Given the description of an element on the screen output the (x, y) to click on. 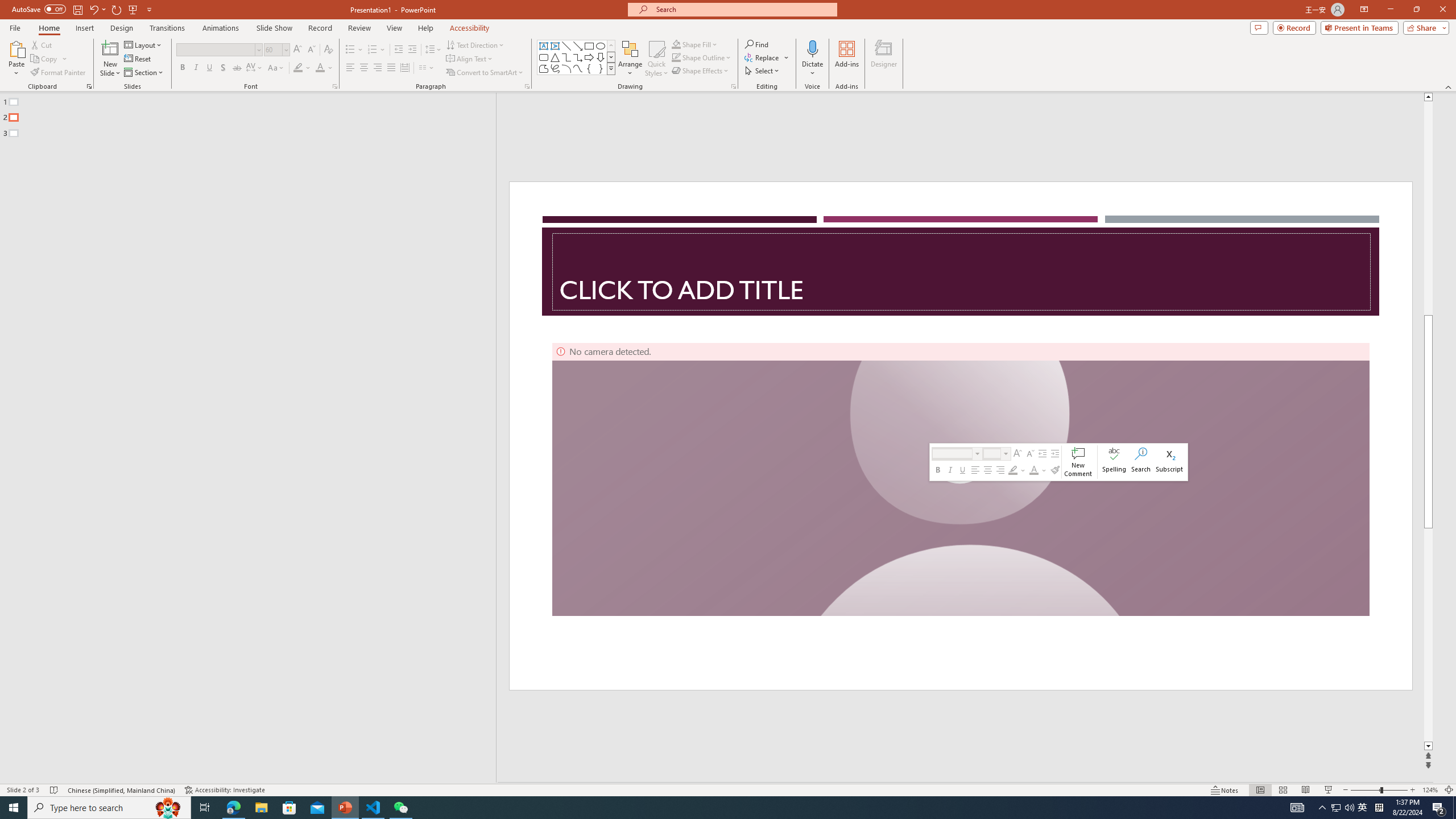
Arrange (630, 58)
Spell Check No Errors (54, 790)
Comments (1259, 27)
Select (762, 69)
Close (1442, 9)
Undo (96, 9)
Font Size (273, 49)
Font Color (324, 67)
Bold (182, 67)
Rectangle (242, 437)
Isosceles Triangle (554, 57)
Accessibility Checker Accessibility: Investigate (224, 790)
More Options (812, 68)
Slide Show (273, 28)
